Given the description of an element on the screen output the (x, y) to click on. 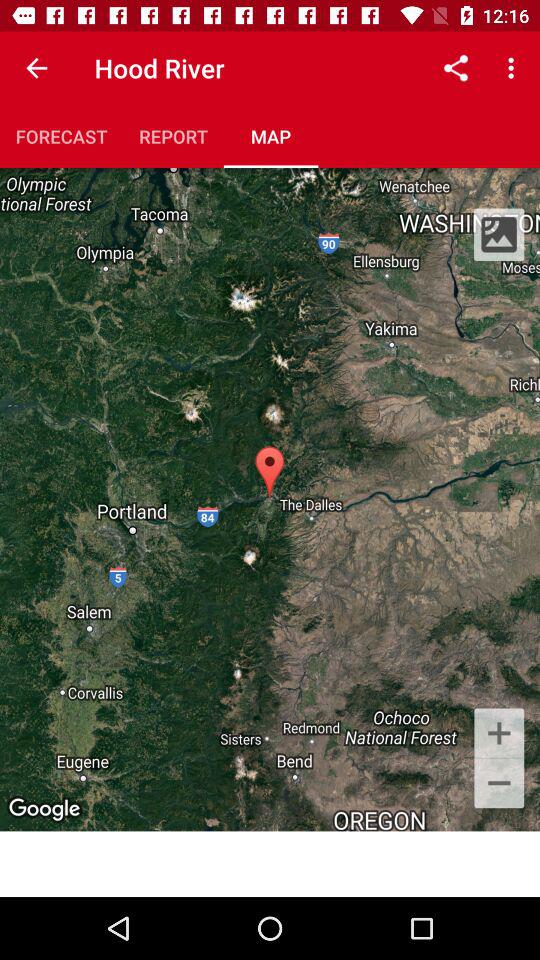
turn off the item to the left of hood river icon (36, 68)
